Given the description of an element on the screen output the (x, y) to click on. 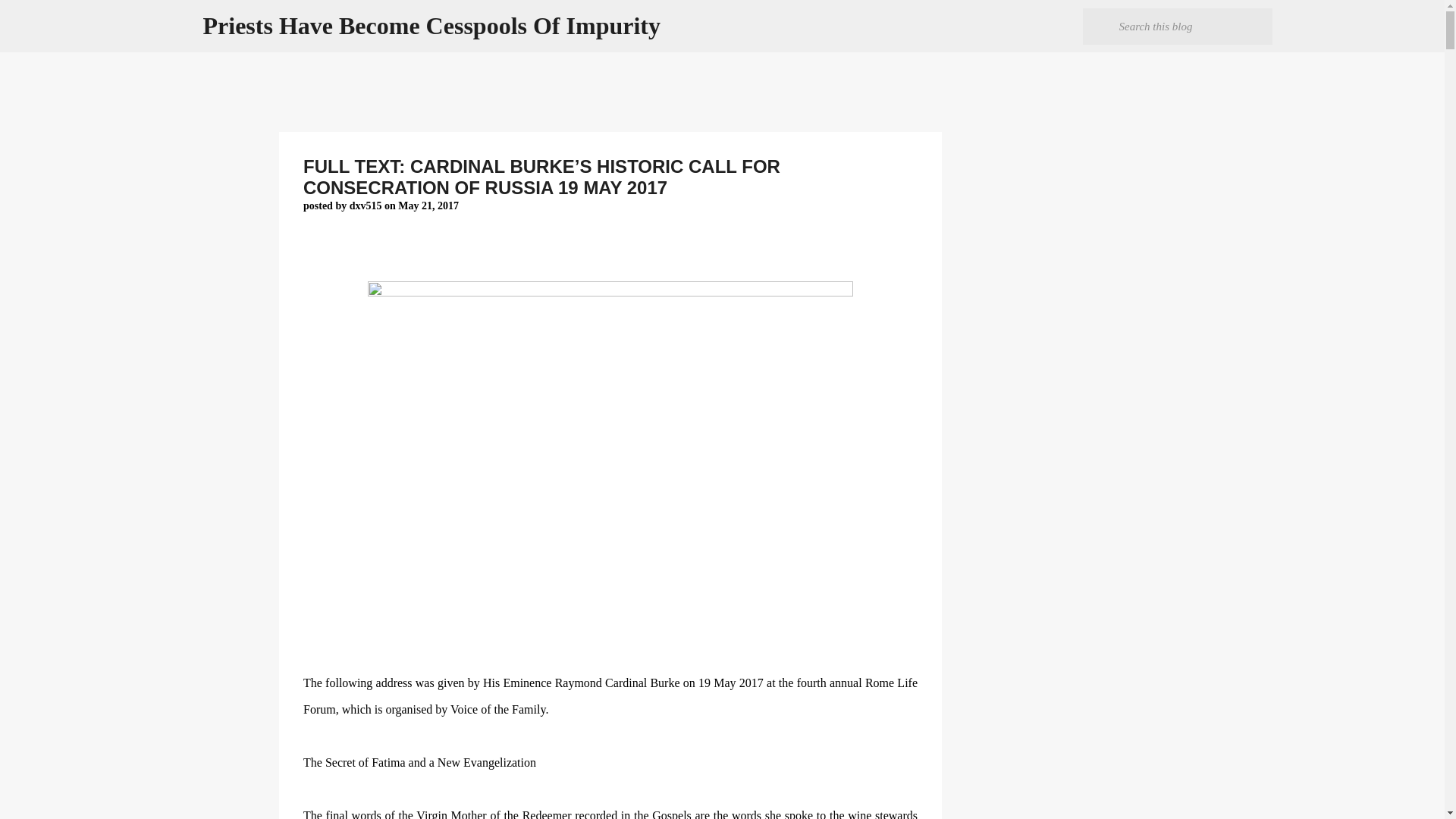
dxv515 (366, 205)
author profile (366, 205)
permanent link (427, 205)
Priests Have Become Cesspools Of Impurity (432, 25)
May 21, 2017 (427, 205)
